Given the description of an element on the screen output the (x, y) to click on. 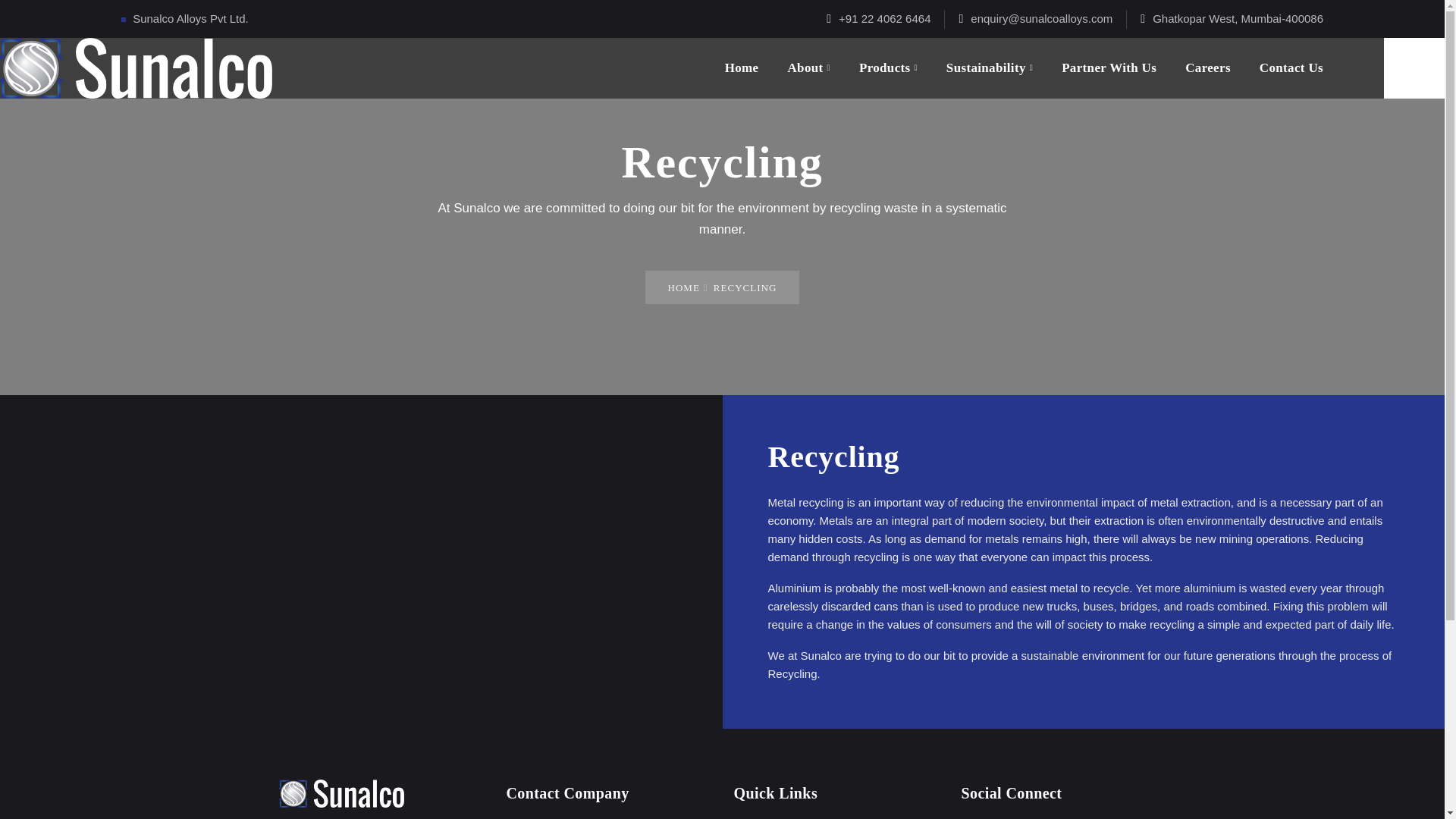
Products (888, 67)
Sustainability (989, 67)
Sunalco Alloys Pvt Ltd (136, 66)
Ghatkopar West, Mumbai-400086 (1238, 18)
HOME (682, 287)
Partner With Us (1108, 67)
Contact Us (1291, 67)
